Given the description of an element on the screen output the (x, y) to click on. 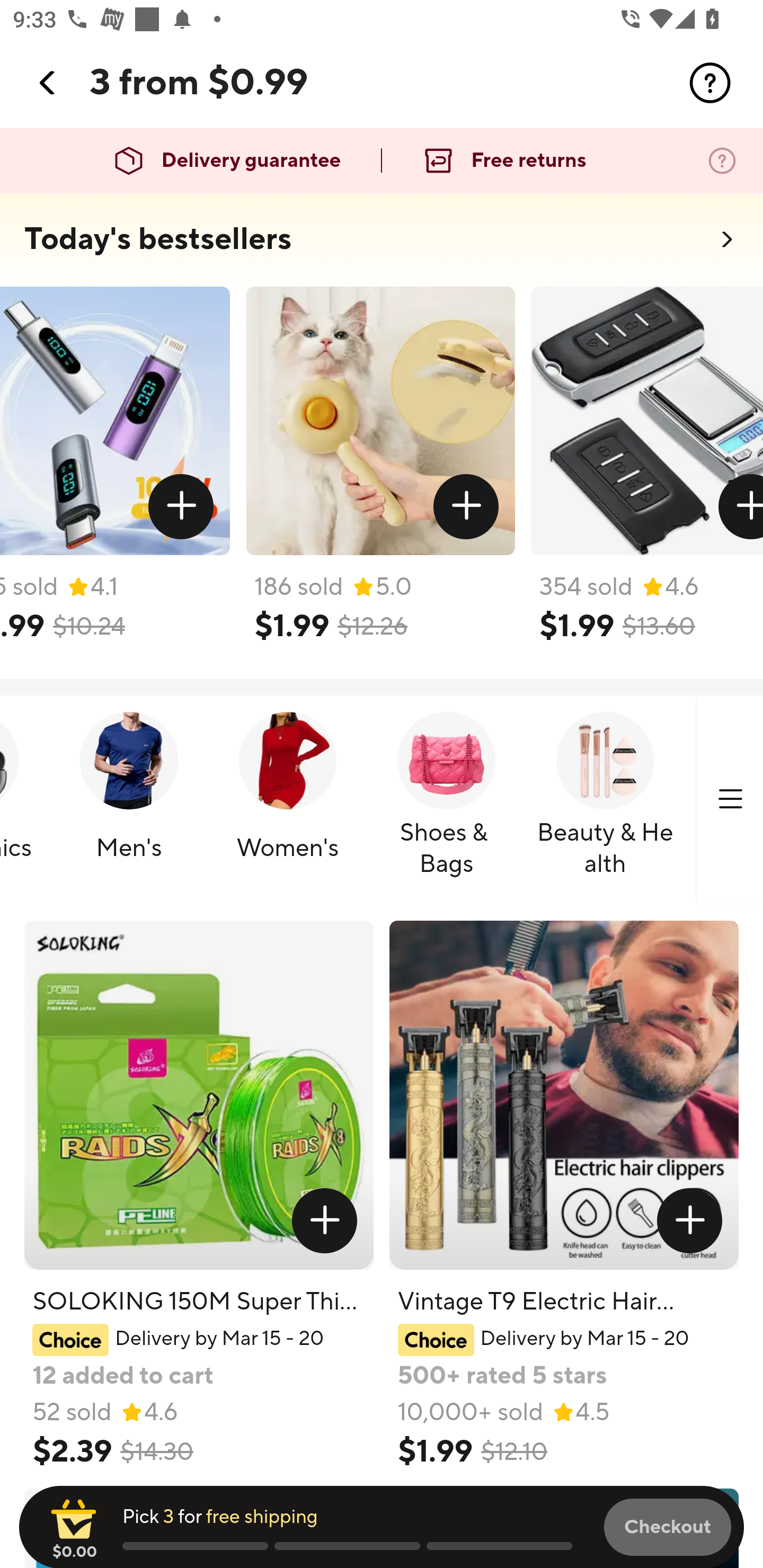
 (710, 82)
 (48, 82)
Today's bestsellers  Today's bestsellers  (381, 244)
Today's bestsellers (157, 239)
 (181, 506)
 (465, 506)
 (740, 506)
 (730, 799)
200x200.png_ Men's (128, 800)
200x200.png_ Women's (287, 800)
300x300.png_ Shoes & Bags (446, 800)
300x300.png_ Beauty & Health (604, 800)
 (323, 1220)
 (689, 1220)
